Given the description of an element on the screen output the (x, y) to click on. 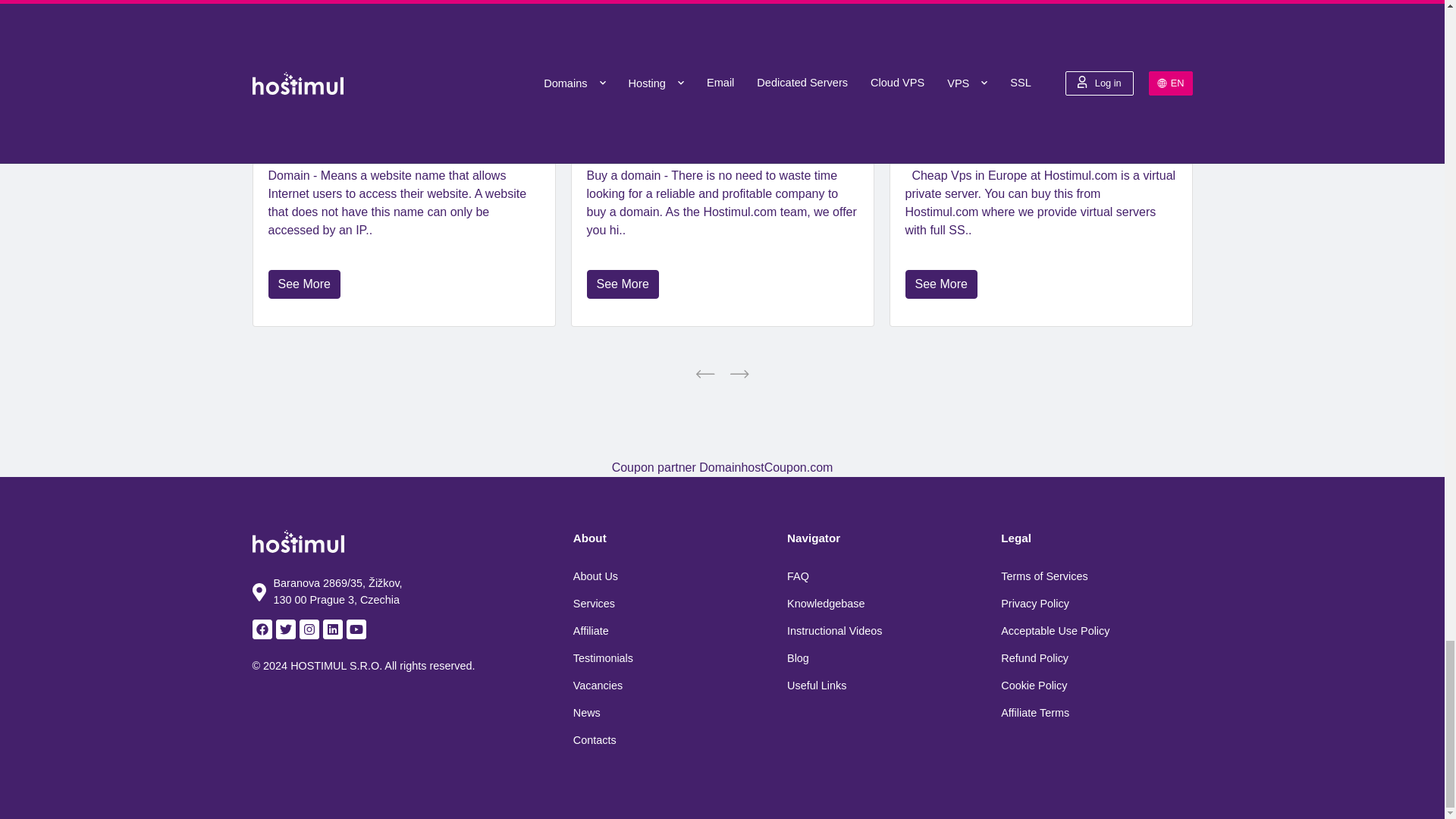
domainhostcoupon.com - Web Hosting Coupon (721, 467)
